Given the description of an element on the screen output the (x, y) to click on. 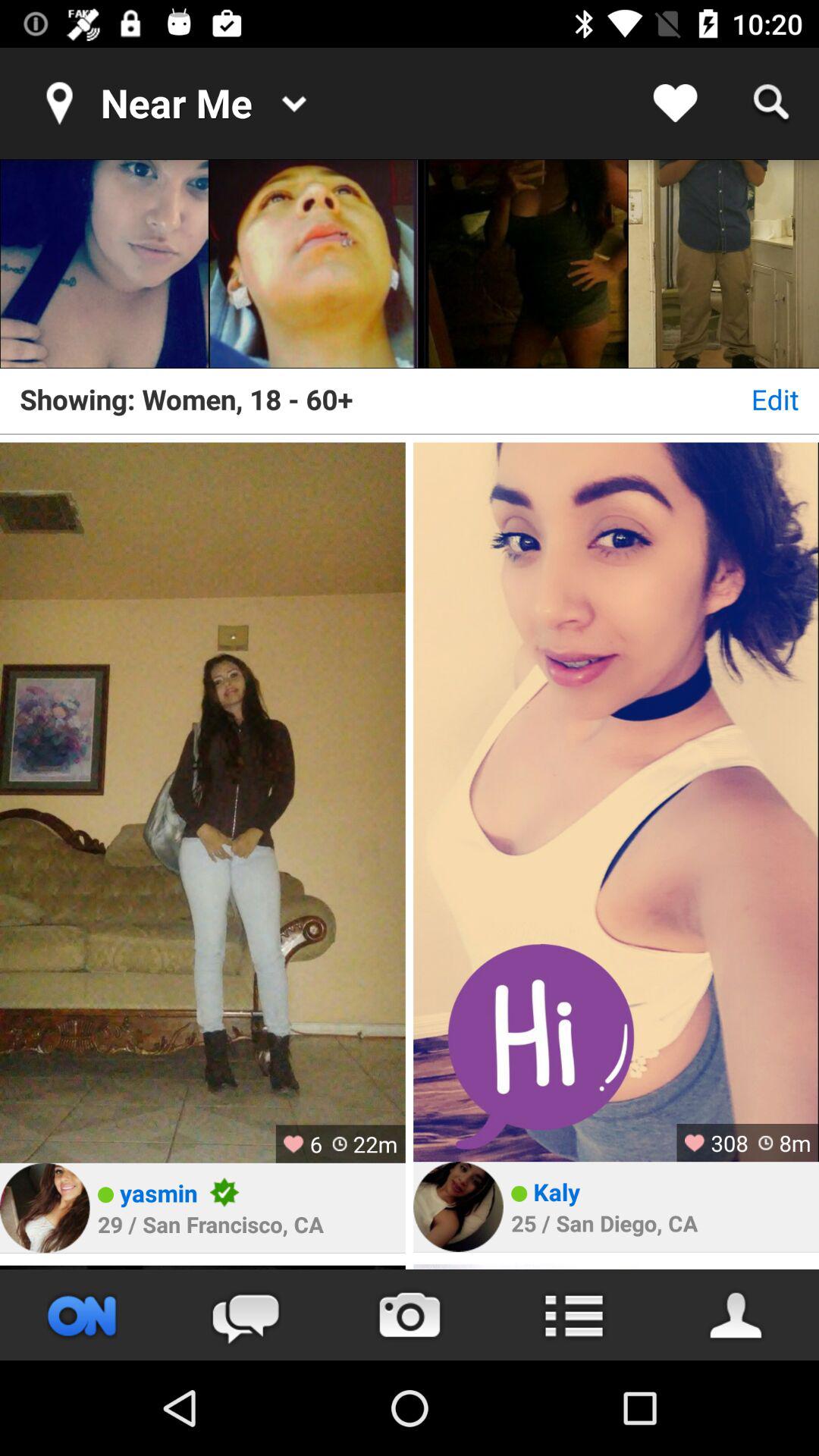
go to contact (737, 1315)
